Given the description of an element on the screen output the (x, y) to click on. 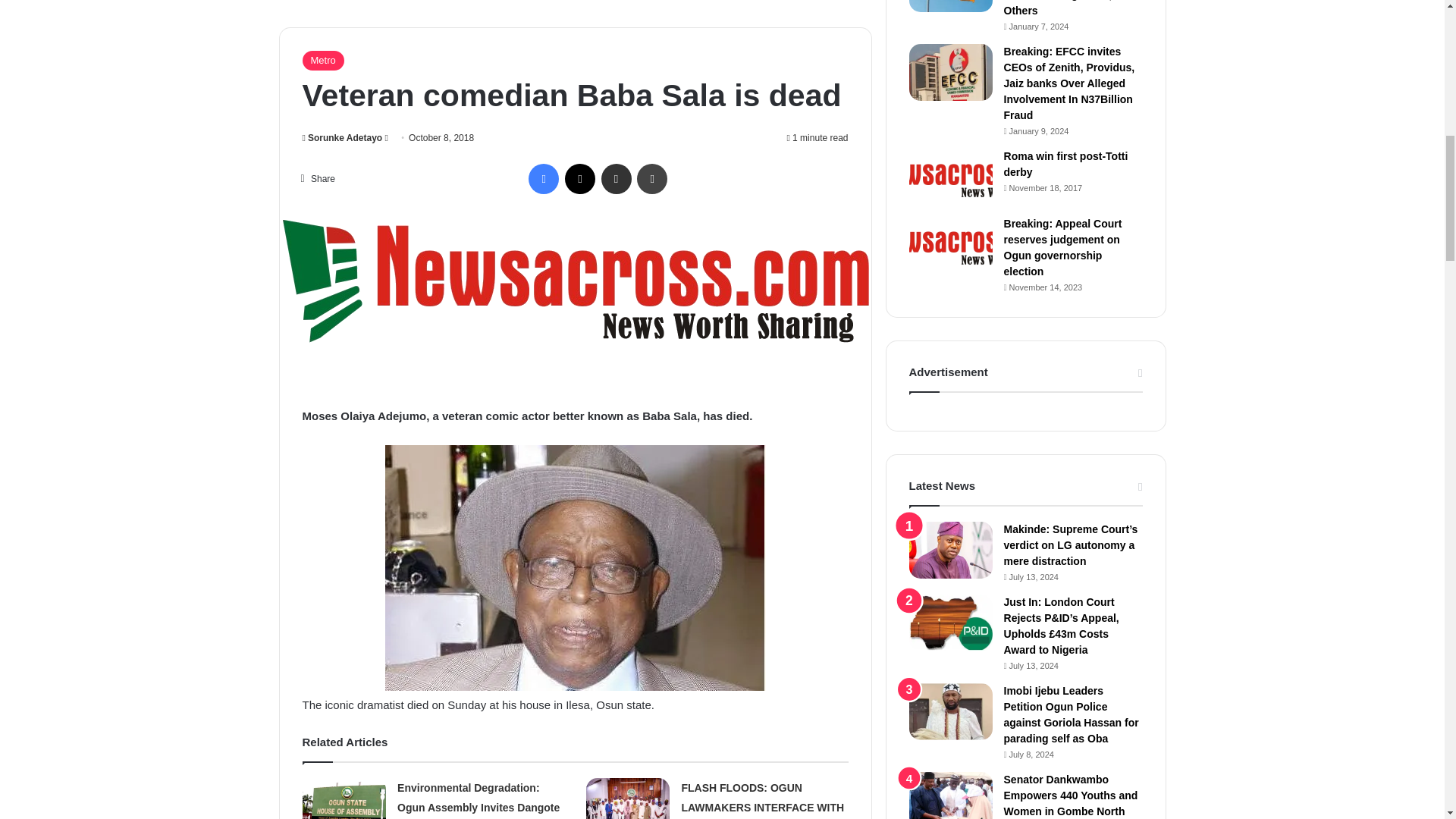
Sorunke Adetayo (341, 137)
Metro (322, 60)
Sorunke Adetayo (341, 137)
Print (651, 178)
X (579, 178)
Facebook (543, 178)
Facebook (543, 178)
X (579, 178)
Share via Email (616, 178)
